Given the description of an element on the screen output the (x, y) to click on. 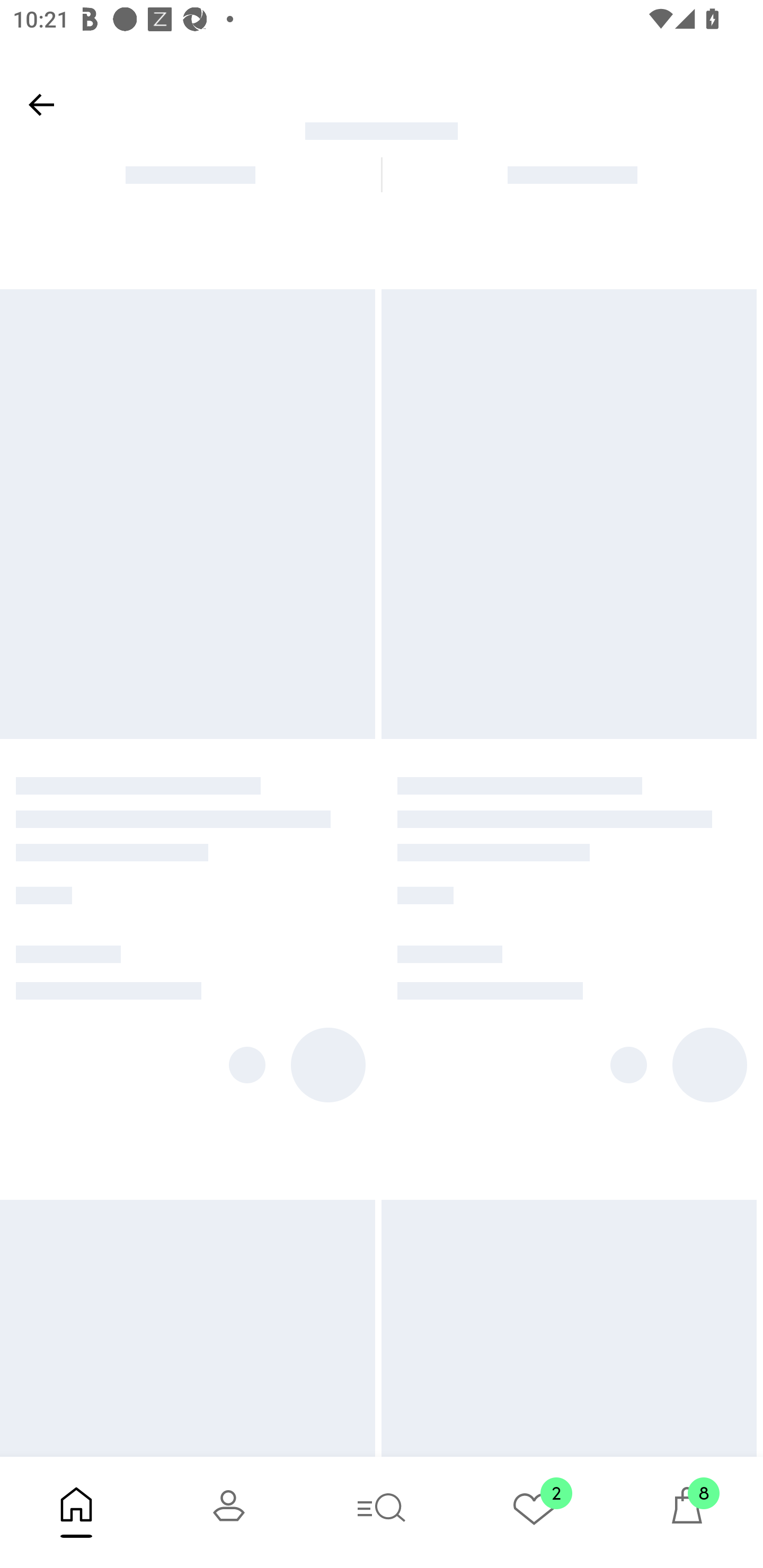
2 (533, 1512)
8 (686, 1512)
